Given the description of an element on the screen output the (x, y) to click on. 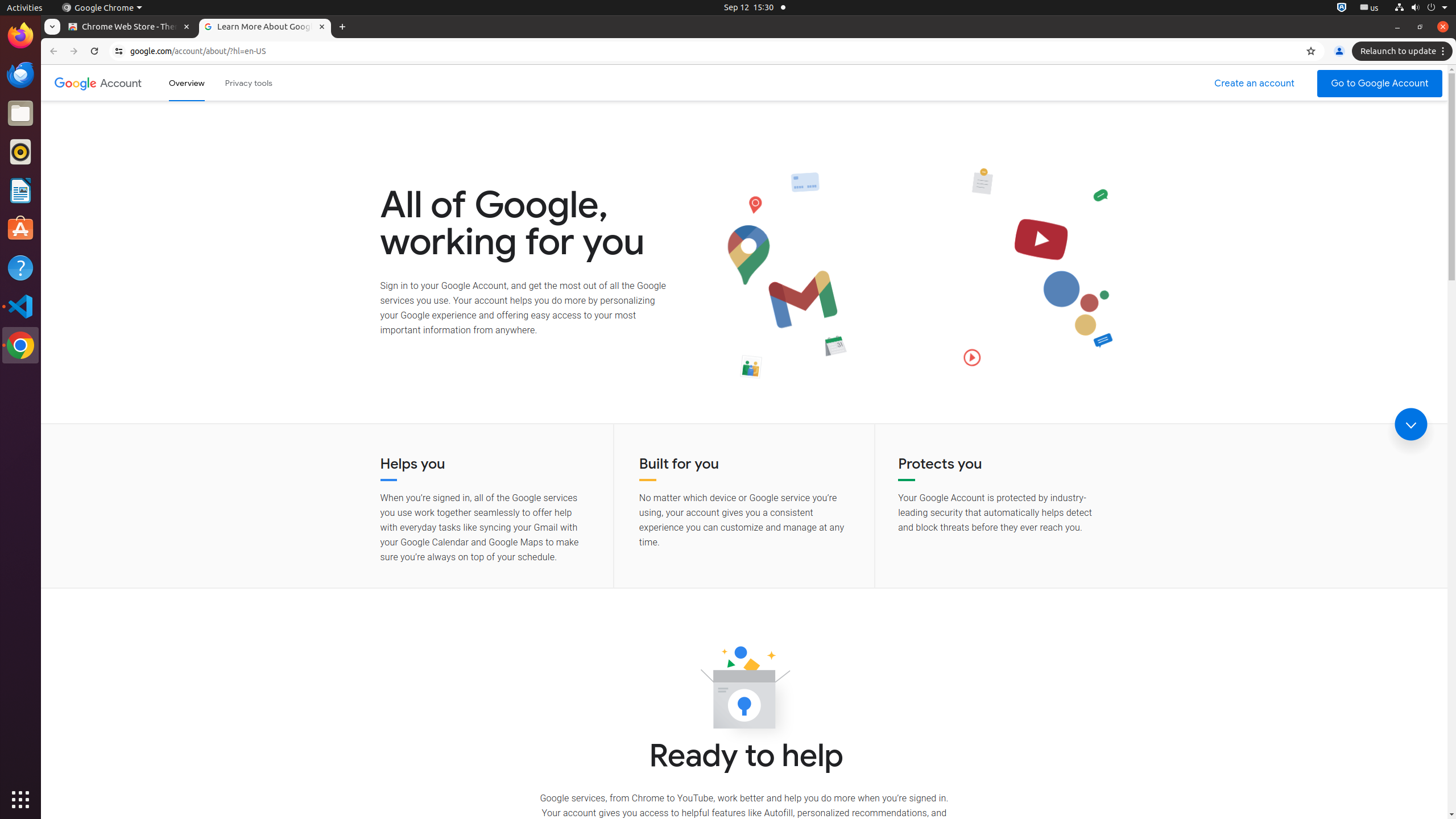
Bookmark this tab Element type: push-button (1310, 51)
Google Chrome Element type: menu (101, 7)
Ubuntu Software Element type: push-button (20, 229)
Relaunch to update Element type: push-button (1403, 50)
View site information Element type: push-button (118, 51)
